Given the description of an element on the screen output the (x, y) to click on. 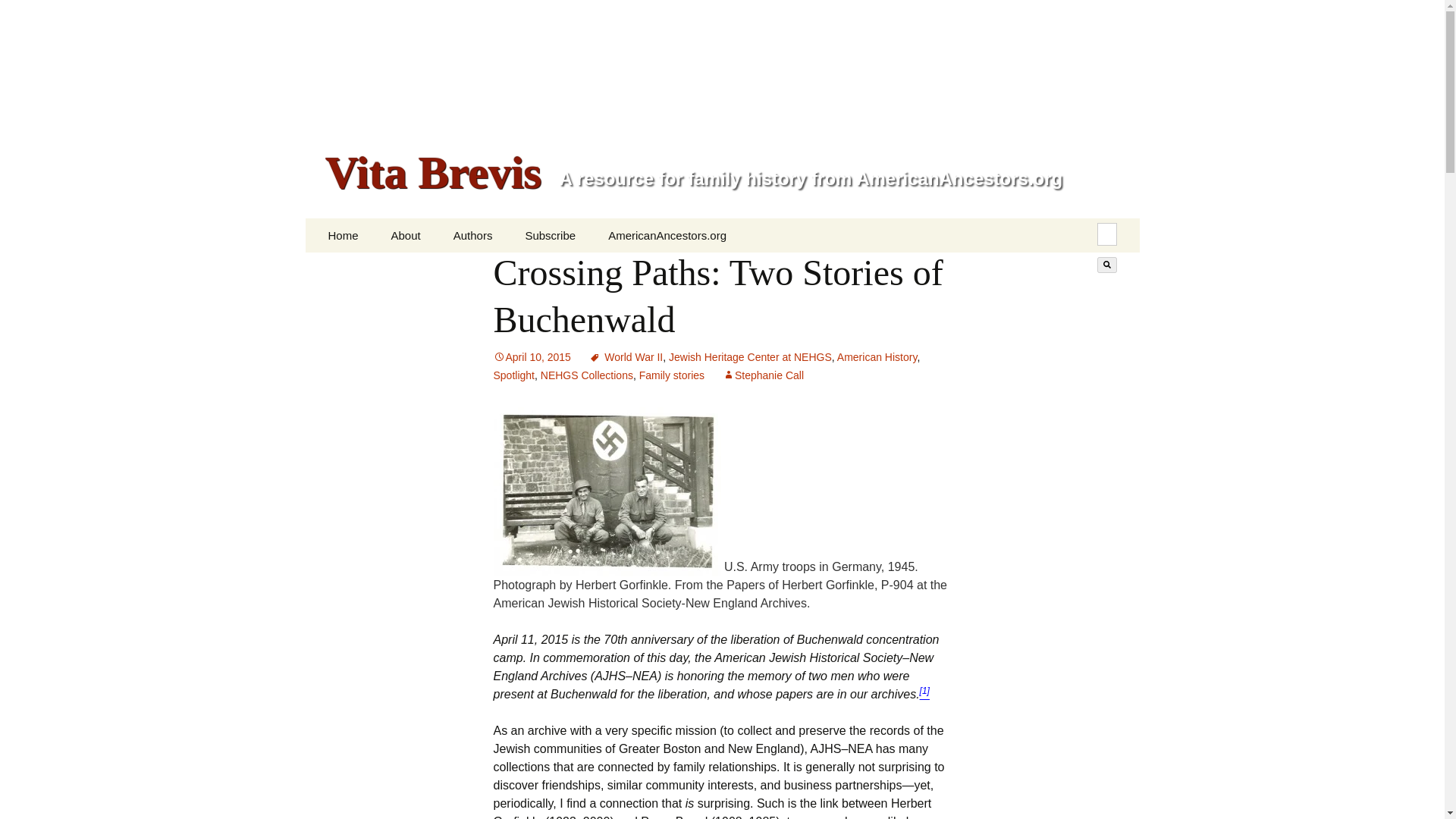
Authors (473, 235)
About (405, 235)
Home (342, 235)
